Given the description of an element on the screen output the (x, y) to click on. 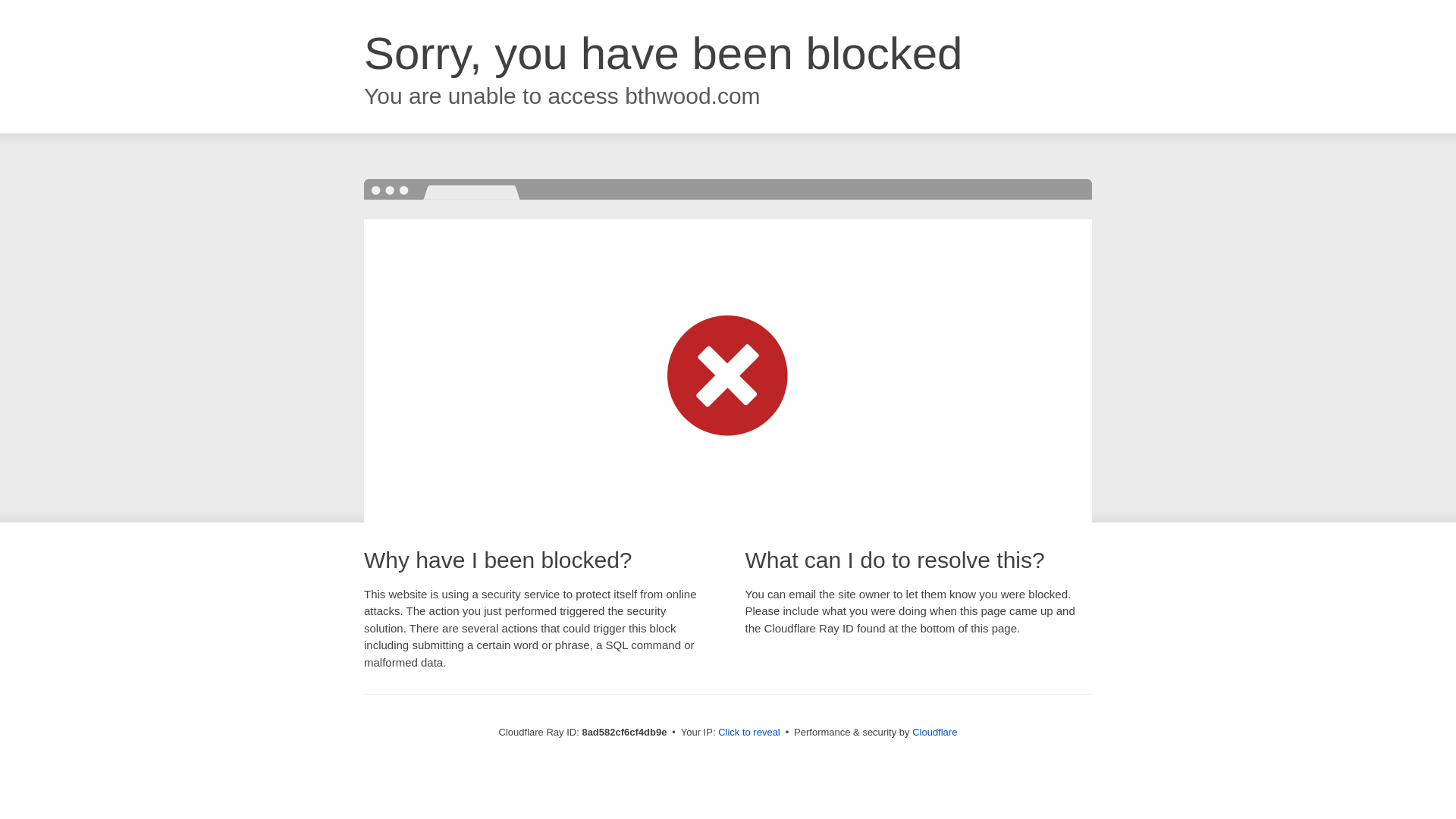
Cloudflare (934, 731)
Click to reveal (748, 732)
